Given the description of an element on the screen output the (x, y) to click on. 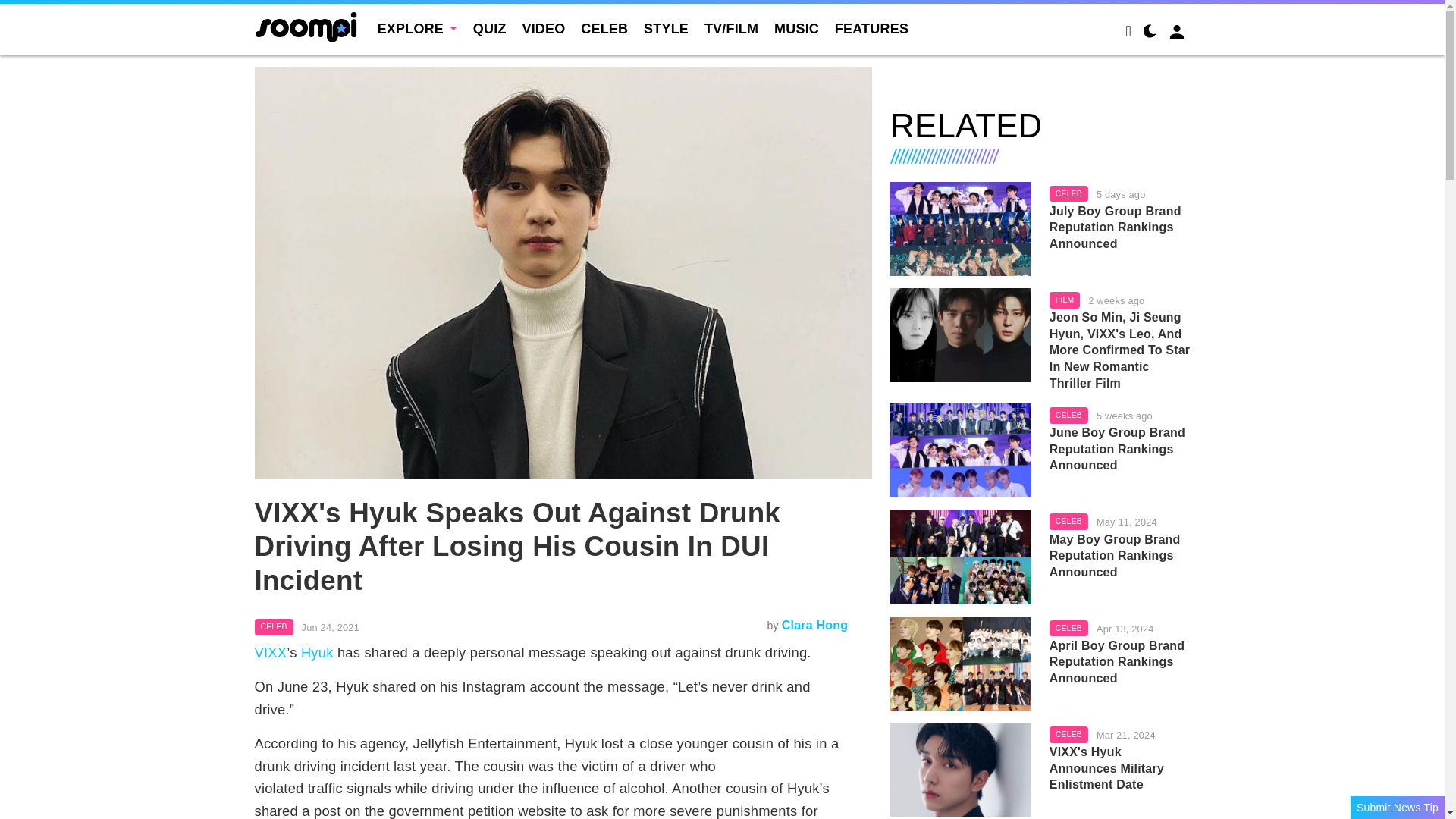
Film (1064, 299)
Clara Hong (814, 625)
Celeb (1068, 193)
Hyuk (317, 652)
QUIZ (489, 28)
STYLE (665, 28)
MUSIC (796, 28)
Articles by Clara Hong (814, 625)
Night Mode Toggle (1149, 33)
VIDEO (542, 28)
July Boy Group Brand Reputation Rankings Announced (959, 228)
EXPLORE (417, 28)
CELEB (603, 28)
Celeb (274, 627)
